Given the description of an element on the screen output the (x, y) to click on. 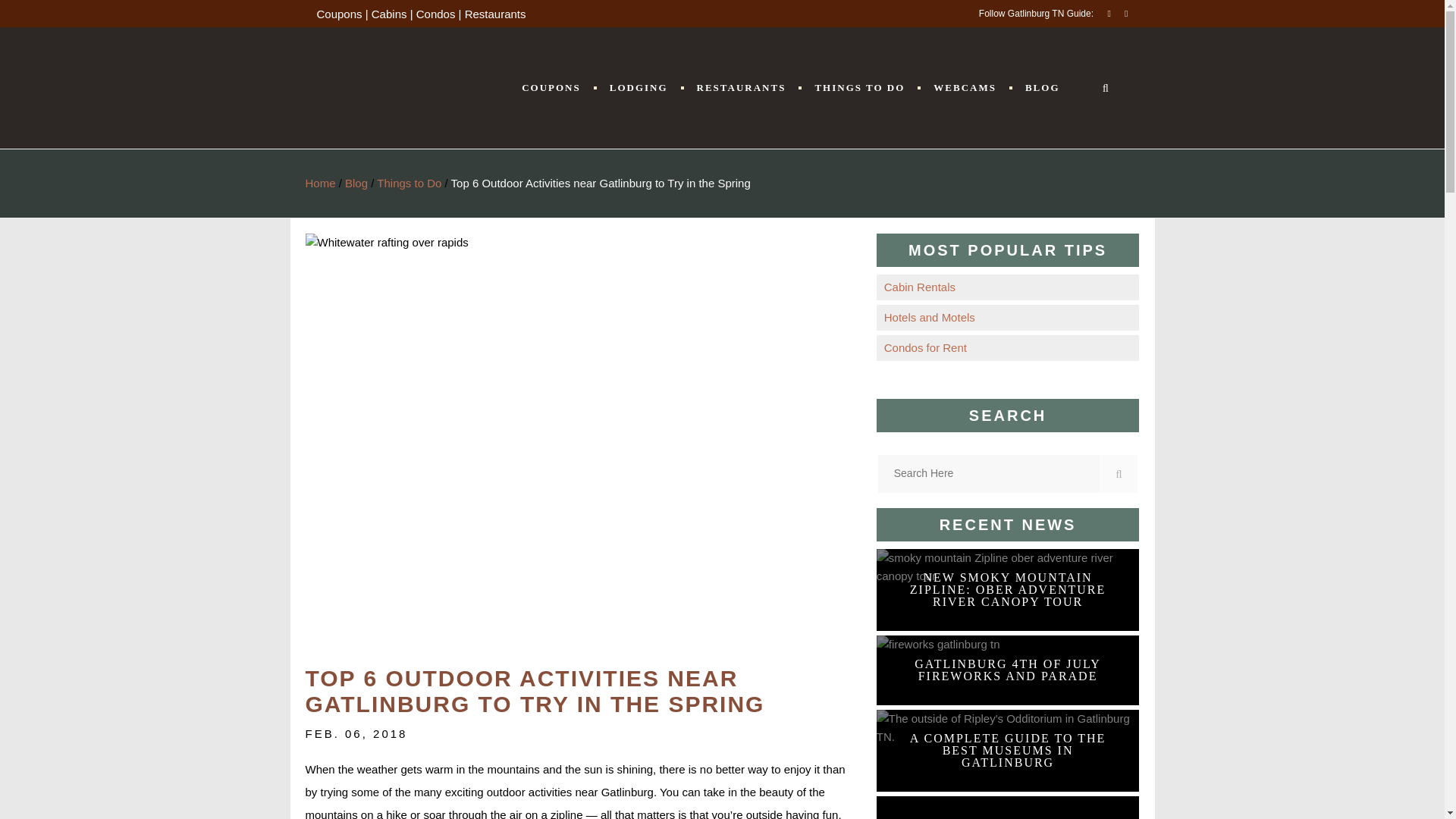
Cabins (389, 13)
Hotels and Motels (1007, 317)
Condo Rentals (1007, 347)
Coupons (339, 13)
Condos (435, 13)
Cabin Rentals (1007, 287)
Restaurants (494, 13)
